Given the description of an element on the screen output the (x, y) to click on. 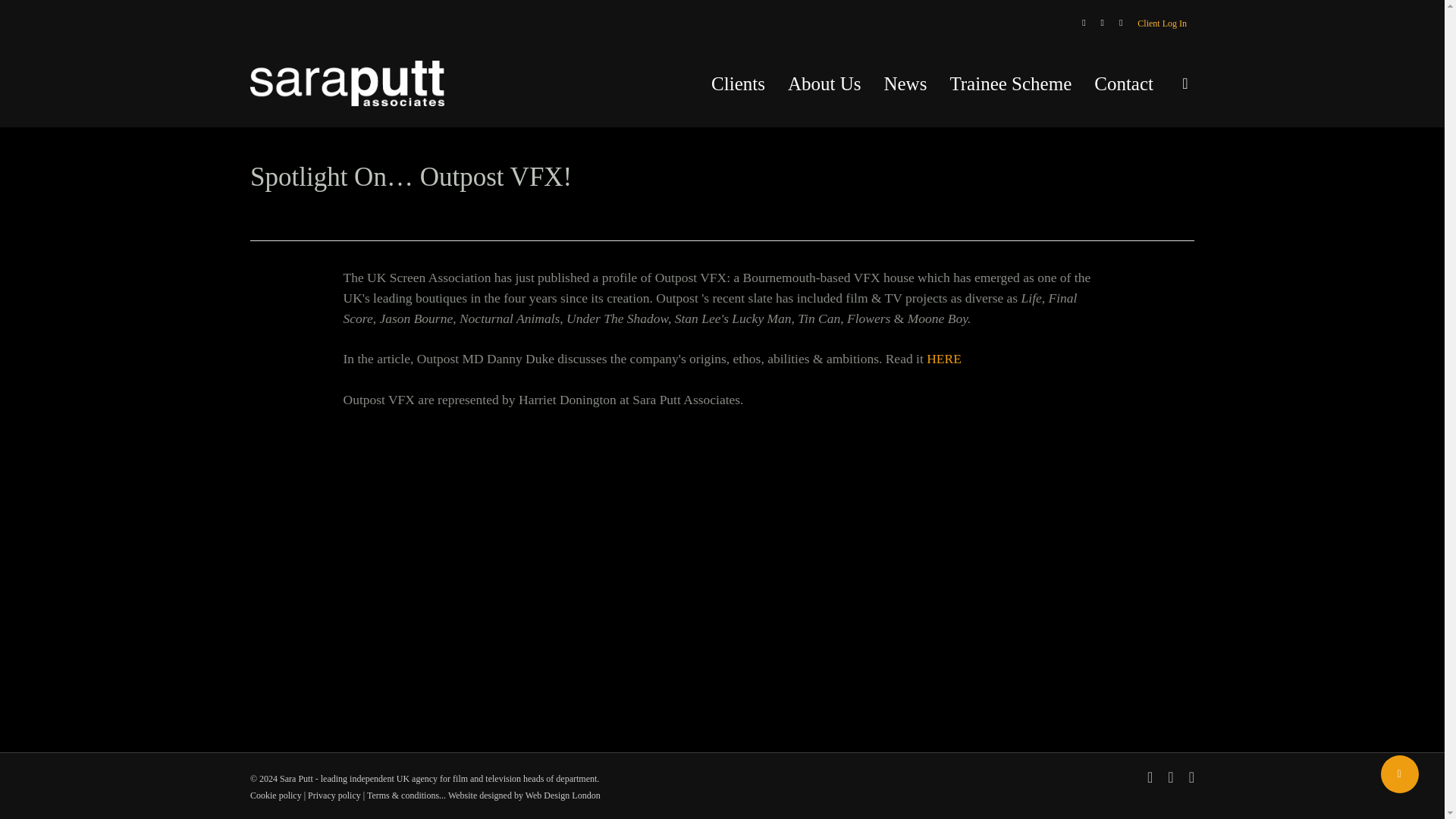
Clients (738, 82)
HERE (943, 358)
Client Log In (1161, 23)
